Given the description of an element on the screen output the (x, y) to click on. 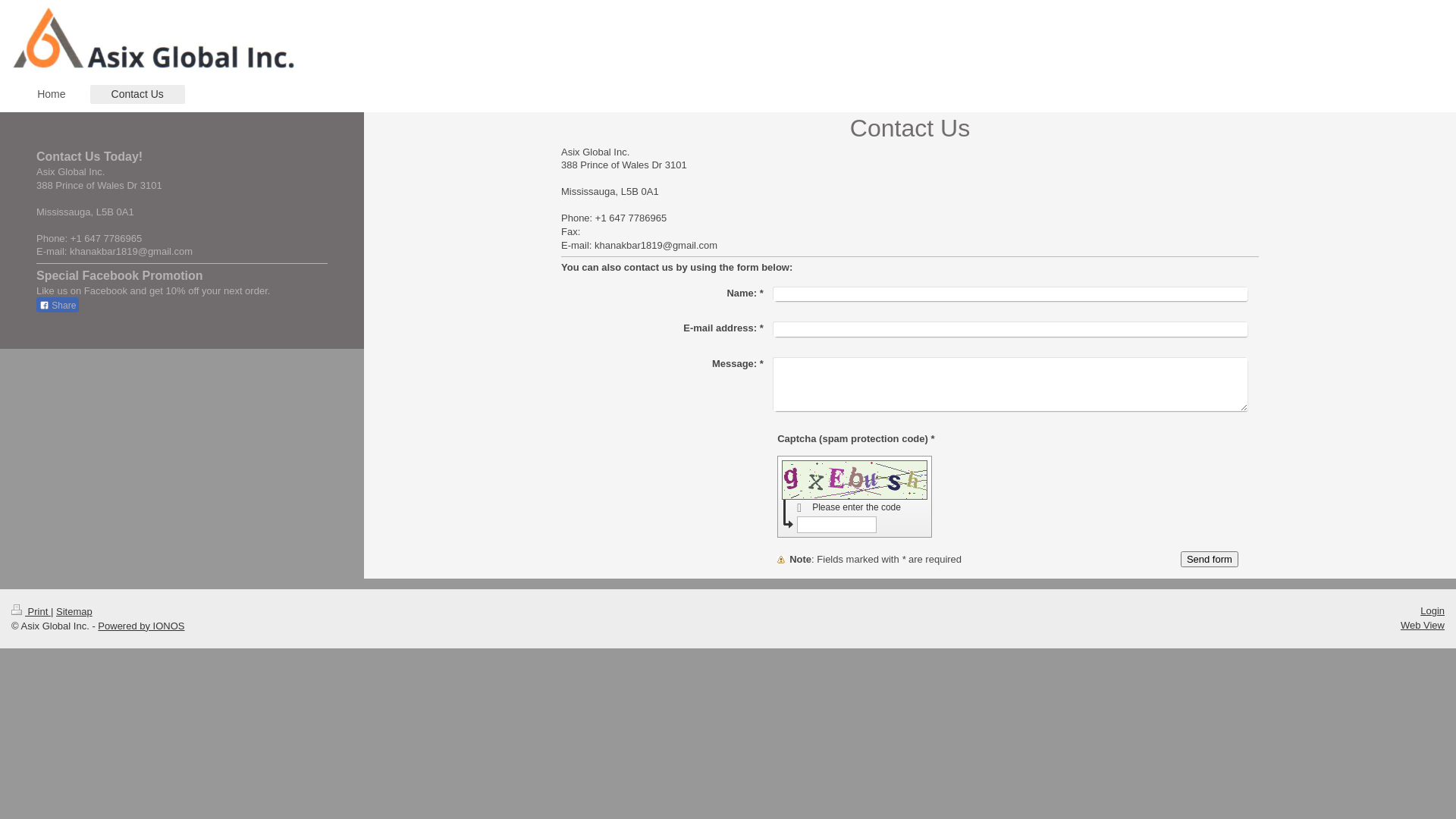
Web View Element type: text (1422, 624)
Login Element type: text (1432, 610)
Print Element type: text (30, 611)
Contact Us Element type: text (137, 93)
Send form Element type: text (1209, 559)
Home Element type: text (50, 93)
Powered by IONOS Element type: text (140, 625)
Share Element type: text (57, 304)
Sitemap Element type: text (74, 611)
